Given the description of an element on the screen output the (x, y) to click on. 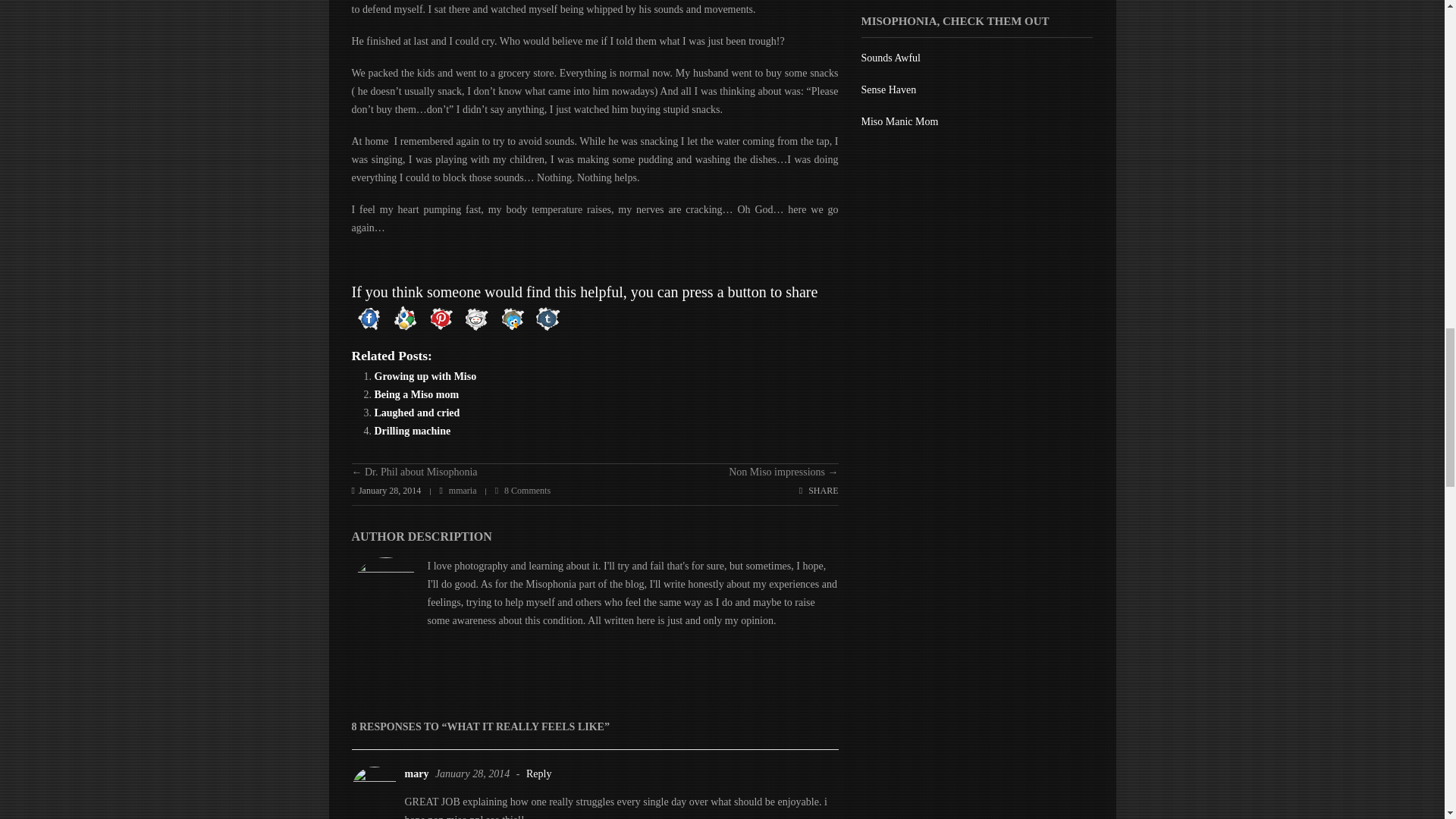
mary (417, 773)
mmaria (462, 490)
Reddit (475, 318)
Reply (538, 773)
Growing up with Miso (425, 376)
Laughed and cried (417, 412)
Facebook (369, 318)
Being a Miso mom (417, 394)
Drilling machine (412, 430)
Laughed and cried (417, 412)
Being a Miso mom (417, 394)
Drilling machine (412, 430)
8 Comments (522, 490)
Pinterest (440, 318)
tumblr (546, 318)
